Given the description of an element on the screen output the (x, y) to click on. 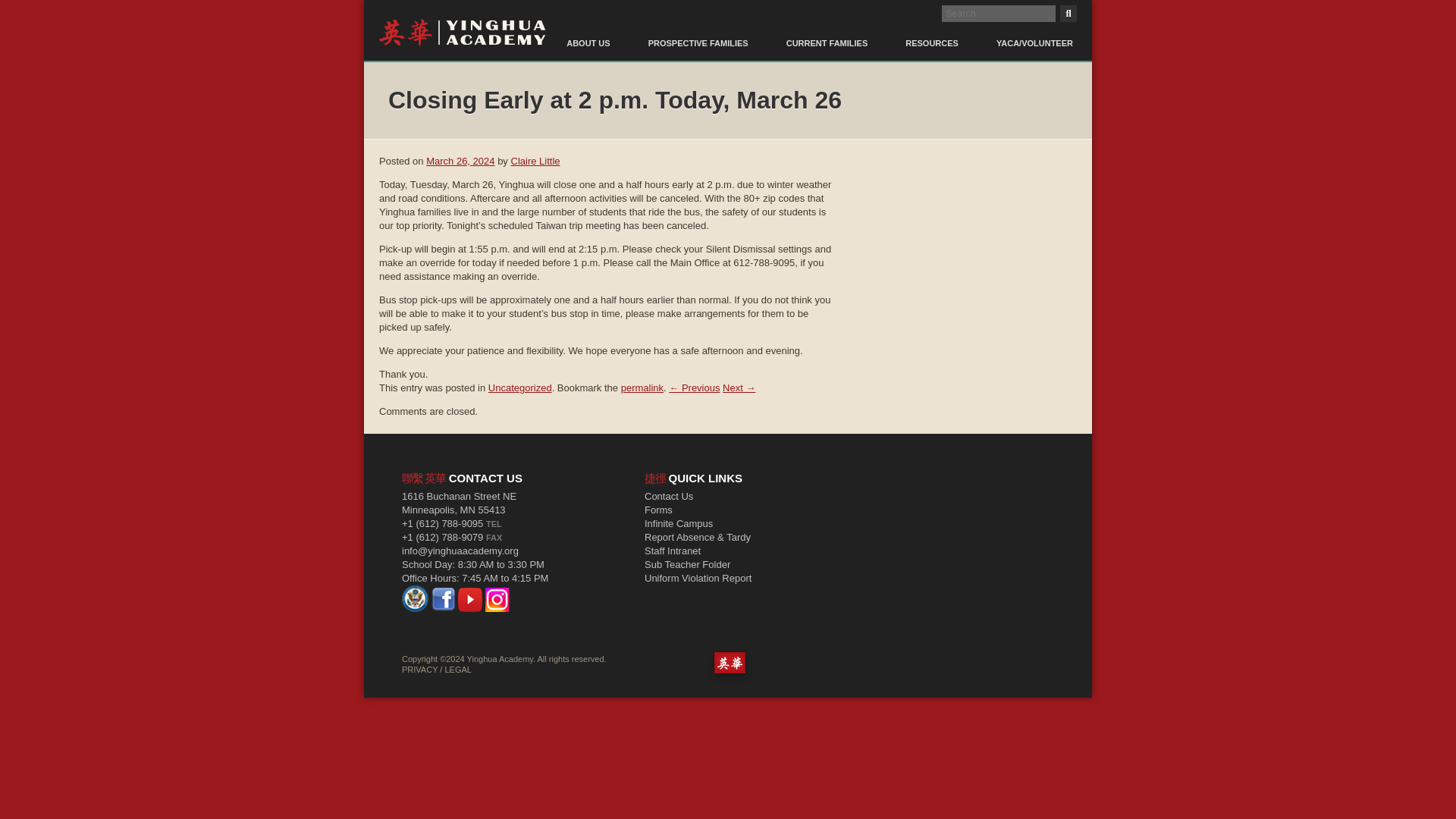
View all posts by Claire Little (535, 161)
About Us (587, 34)
Privacy (419, 669)
ABOUT US (587, 34)
PROSPECTIVE FAMILIES (697, 34)
CURRENT FAMILIES (826, 34)
Legal (457, 669)
11:50 am (460, 161)
Permalink to Closing Early at 2 p.m. Today, March 26 (642, 387)
